Given the description of an element on the screen output the (x, y) to click on. 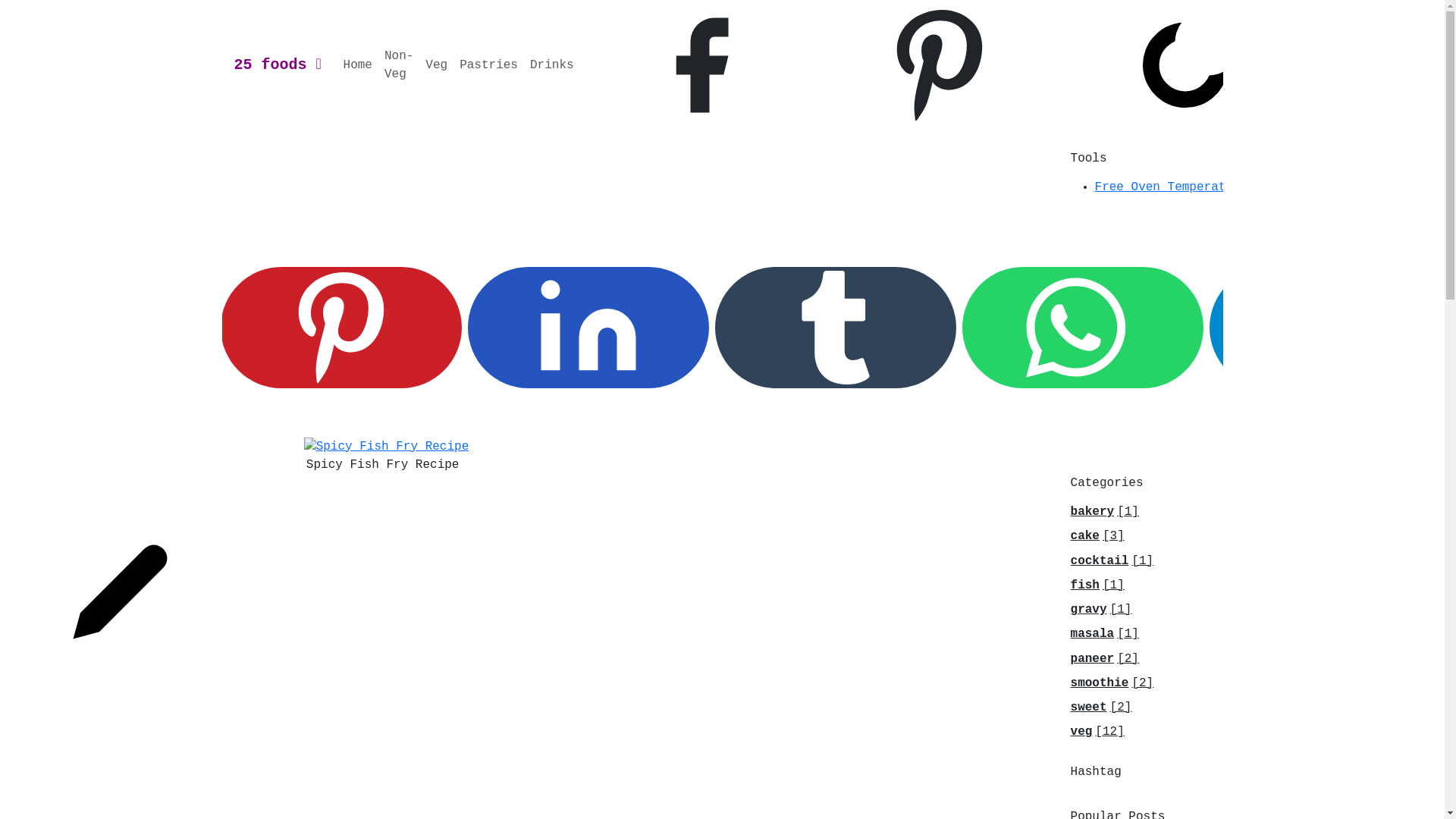
Share to whatsapp Element type: hover (1082, 327)
Veg Element type: text (436, 65)
cake[3] Element type: text (1097, 535)
Pastries Element type: text (488, 65)
Share to telegram Element type: hover (1329, 327)
Pin It Element type: hover (340, 327)
masala[1] Element type: text (1104, 633)
smoothie[2] Element type: text (1112, 683)
Home Element type: text (357, 65)
gravy[1] Element type: text (1101, 609)
veg[12] Element type: text (1097, 731)
Edit post Element type: hover (120, 591)
fish[1] Element type: text (1097, 585)
Spicy Fish Fry Recipe Element type: hover (386, 446)
cocktail[1] Element type: text (1112, 560)
Tumblr Share Element type: hover (835, 327)
Dashboard Element type: hover (120, 469)
sweet[2] Element type: text (1101, 707)
Linkedin Share Element type: hover (588, 327)
bakery[1] Element type: text (1104, 511)
Non-Veg Element type: text (398, 64)
Drinks Element type: text (552, 65)
paneer[2] Element type: text (1104, 658)
